Given the description of an element on the screen output the (x, y) to click on. 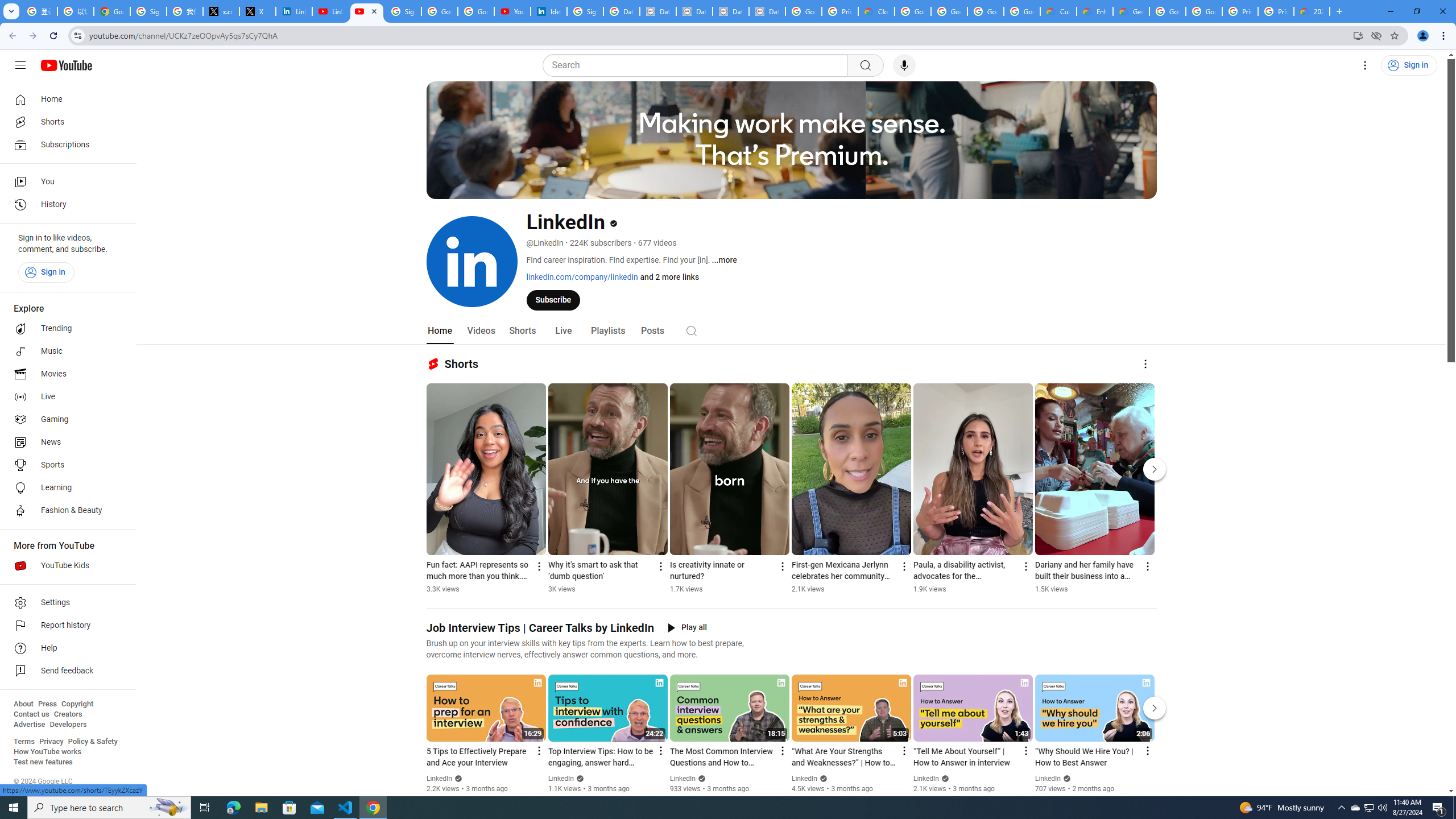
Developers (68, 724)
Fashion & Beauty (64, 510)
Data Privacy Framework (730, 11)
Sign in - Google Accounts (148, 11)
Gemini for Business and Developers | Google Cloud (1131, 11)
Google Cloud Platform (1167, 11)
Data Privacy Framework (657, 11)
Posts (652, 330)
YouTube Kids (64, 565)
Sign in - Google Accounts (403, 11)
Action menu (1146, 750)
